Given the description of an element on the screen output the (x, y) to click on. 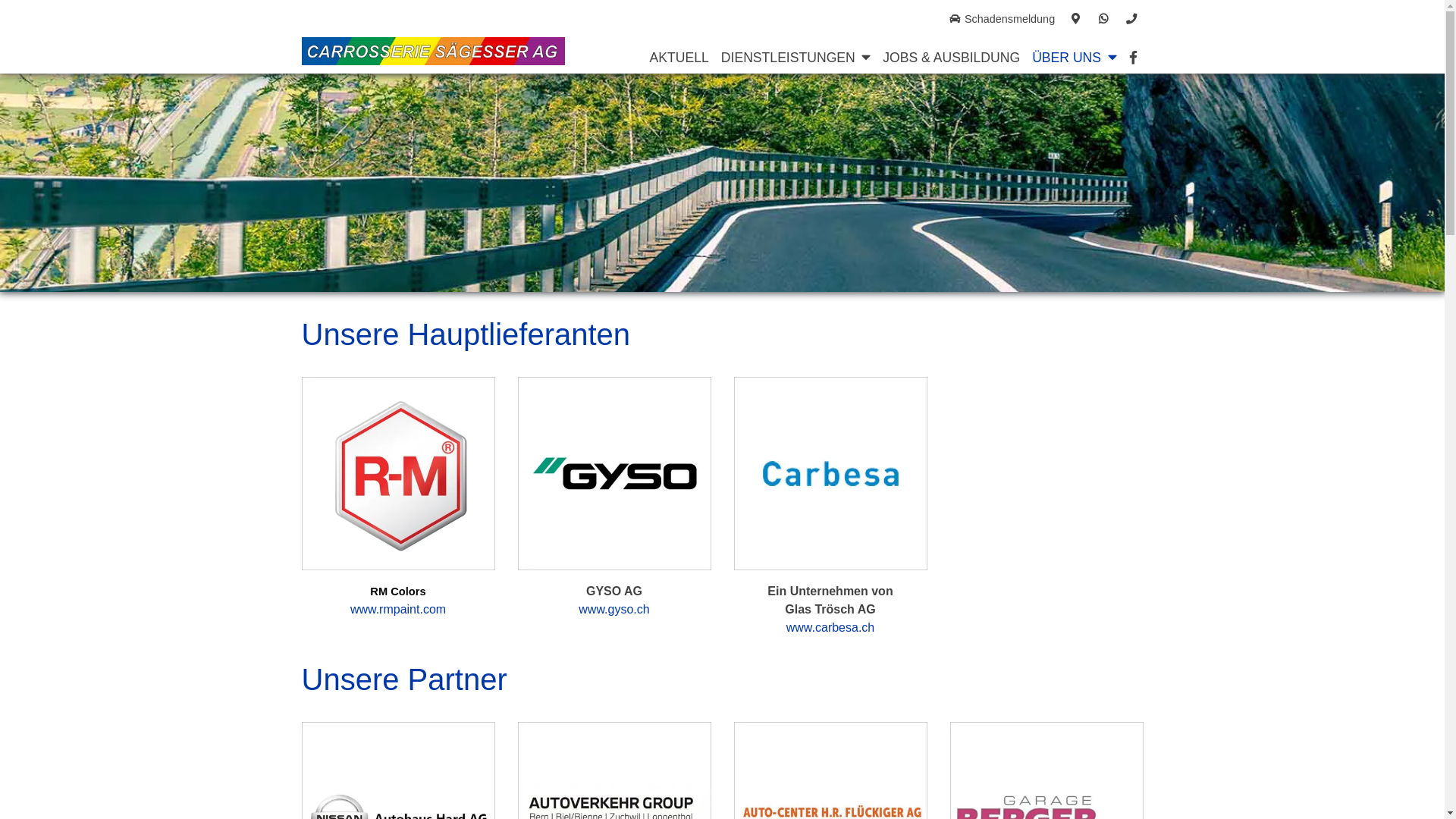
AKTUELL Element type: text (679, 56)
+41 (0)62 963 13 13 Element type: hover (1131, 19)
Spenglerei Element type: text (774, 84)
Standort Element type: hover (1075, 19)
DIENSTLEISTUNGEN Element type: text (785, 56)
www.gyso.ch Element type: text (613, 609)
www.carbesa.ch Element type: text (830, 627)
www.rmpaint.com Element type: text (397, 609)
Schadensmeldung Element type: text (1001, 19)
JOBS & AUSBILDUNG Element type: text (951, 56)
